Given the description of an element on the screen output the (x, y) to click on. 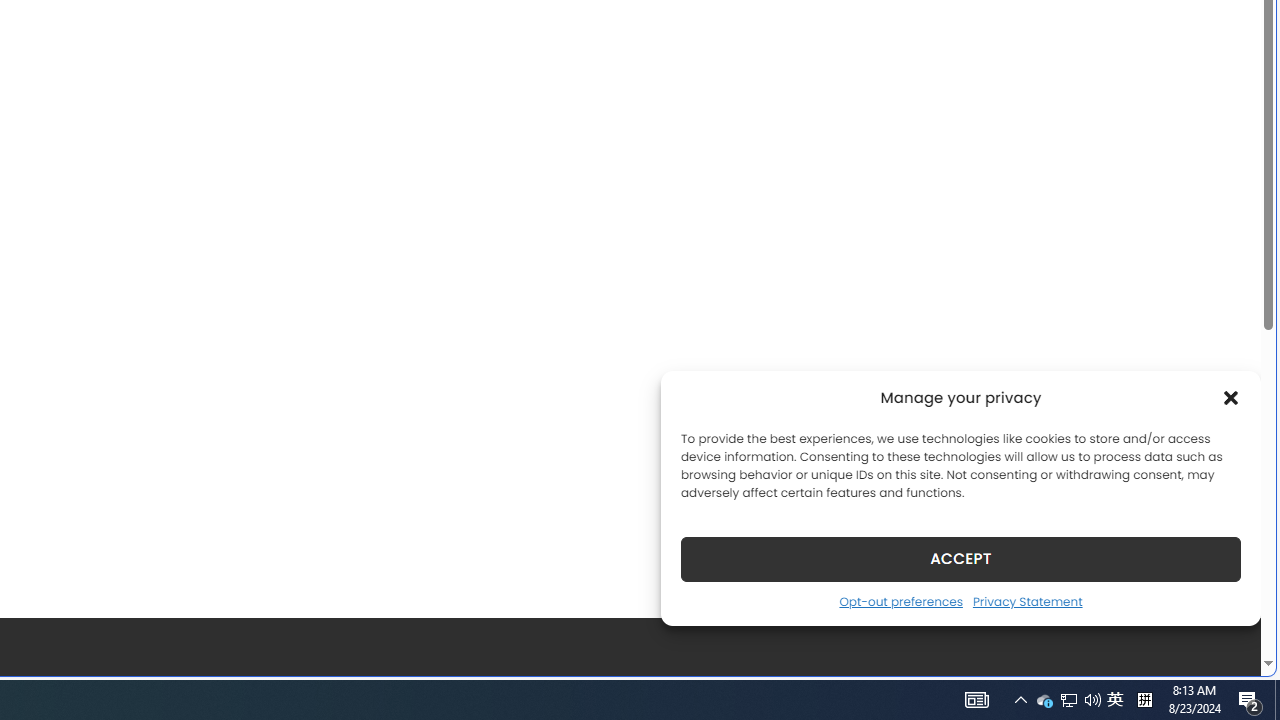
Privacy Statement (1026, 601)
Class: cmplz-close (1231, 397)
Opt-out preferences (900, 601)
ACCEPT (960, 558)
MSN (687, 223)
Go to top (1220, 647)
google_privacy_policy_zh-CN.pdf (687, 482)
